Given the description of an element on the screen output the (x, y) to click on. 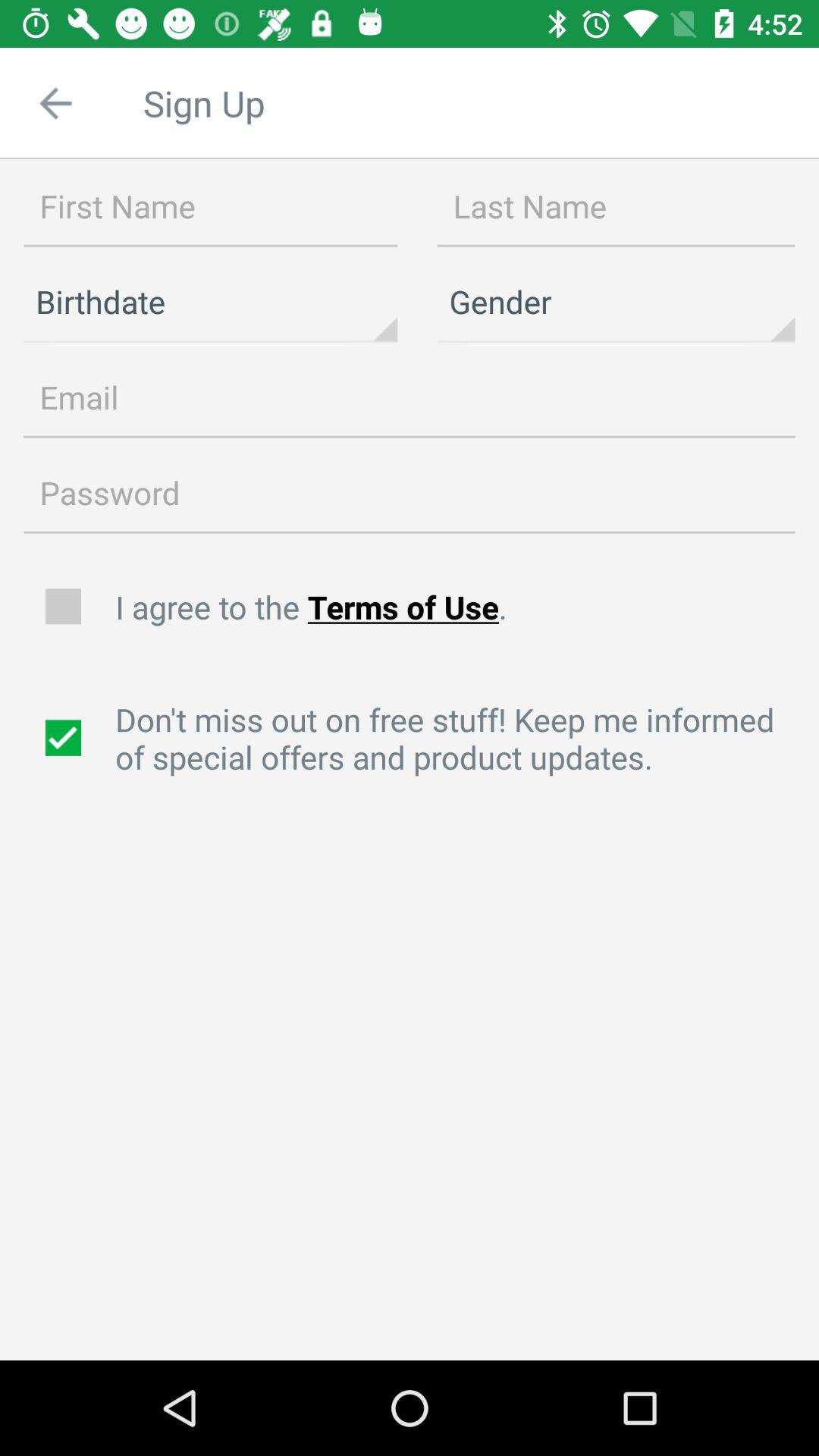
launch the icon next to the sign up (55, 103)
